Given the description of an element on the screen output the (x, y) to click on. 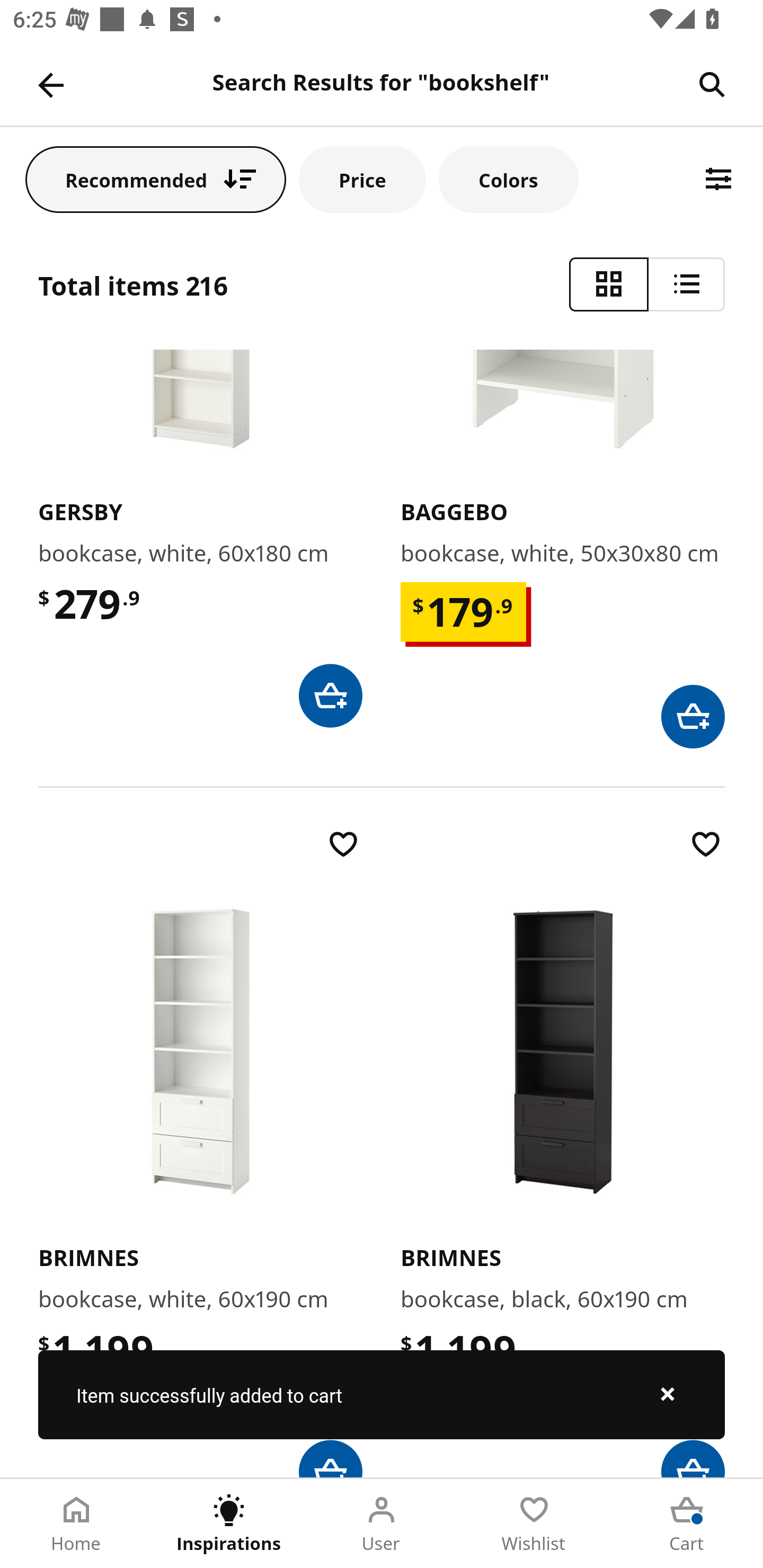
Recommended (155, 179)
Price (362, 179)
Colors (508, 179)
​G​E​R​S​B​Y​
bookcase, white, 60x180 cm
$
279
.9 (200, 538)
Item successfully added to cart (381, 1394)
Home
Tab 1 of 5 (76, 1522)
Inspirations
Tab 2 of 5 (228, 1522)
User
Tab 3 of 5 (381, 1522)
Wishlist
Tab 4 of 5 (533, 1522)
Cart
Tab 5 of 5 (686, 1522)
